Given the description of an element on the screen output the (x, y) to click on. 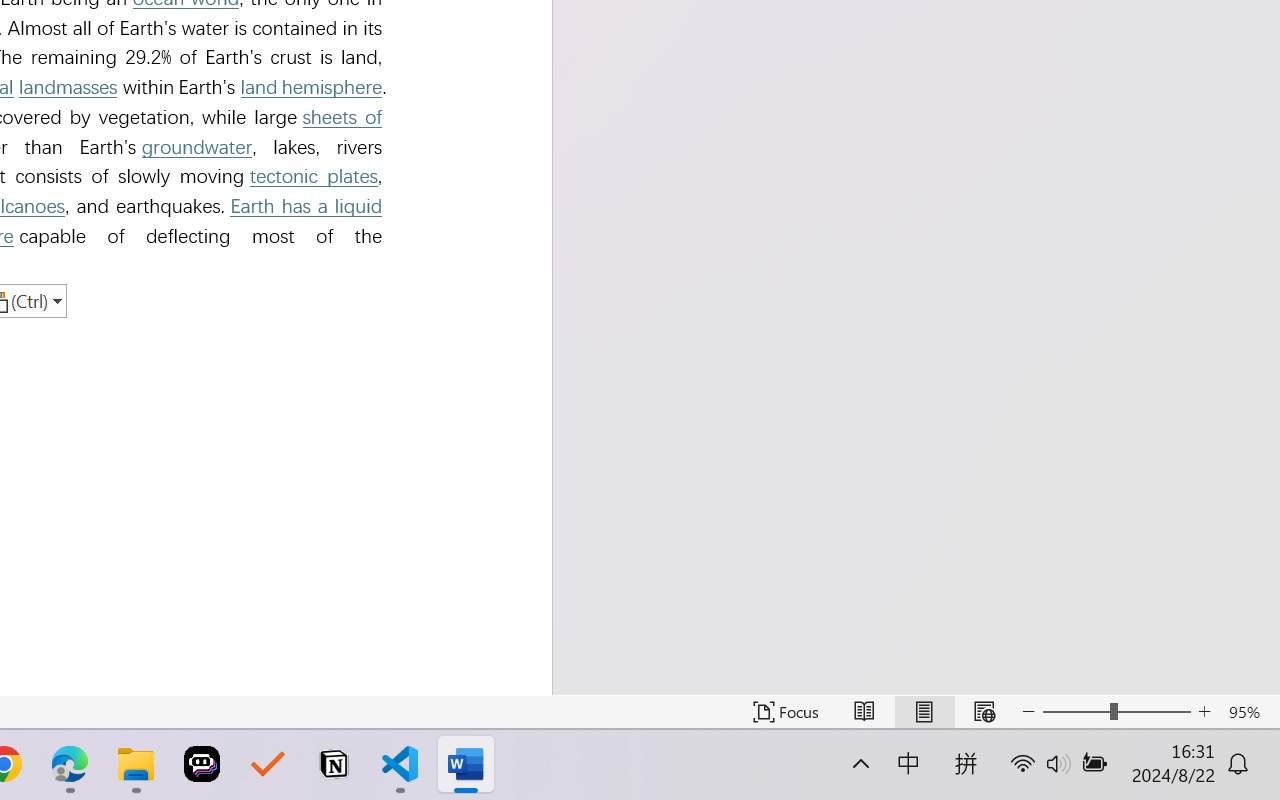
land hemisphere (310, 86)
groundwater (197, 147)
Zoom 95% (1249, 712)
landmasses (67, 86)
tectonic plates (313, 176)
